Given the description of an element on the screen output the (x, y) to click on. 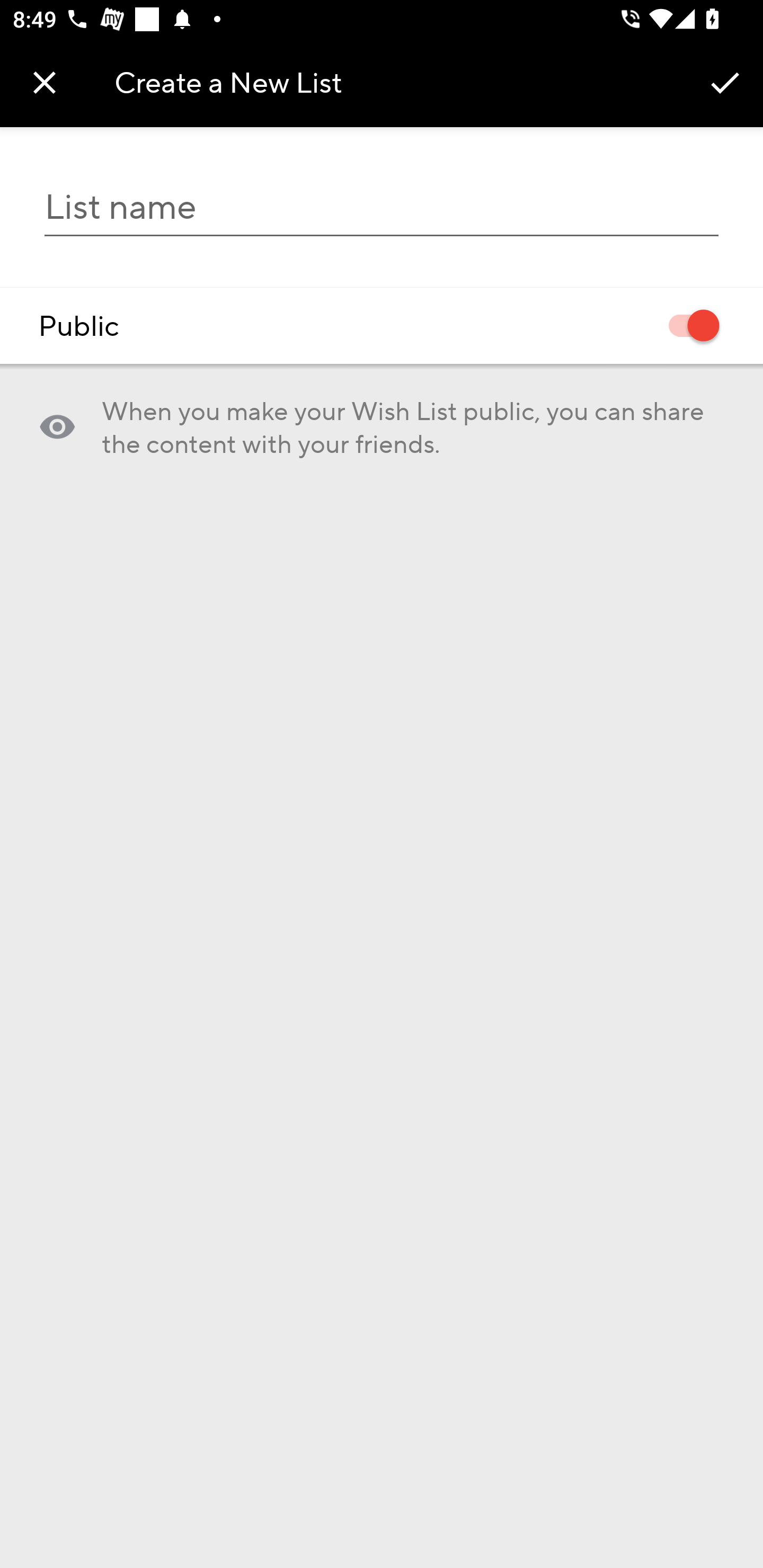
Navigate up (44, 82)
Done (724, 81)
List name (381, 206)
